Given the description of an element on the screen output the (x, y) to click on. 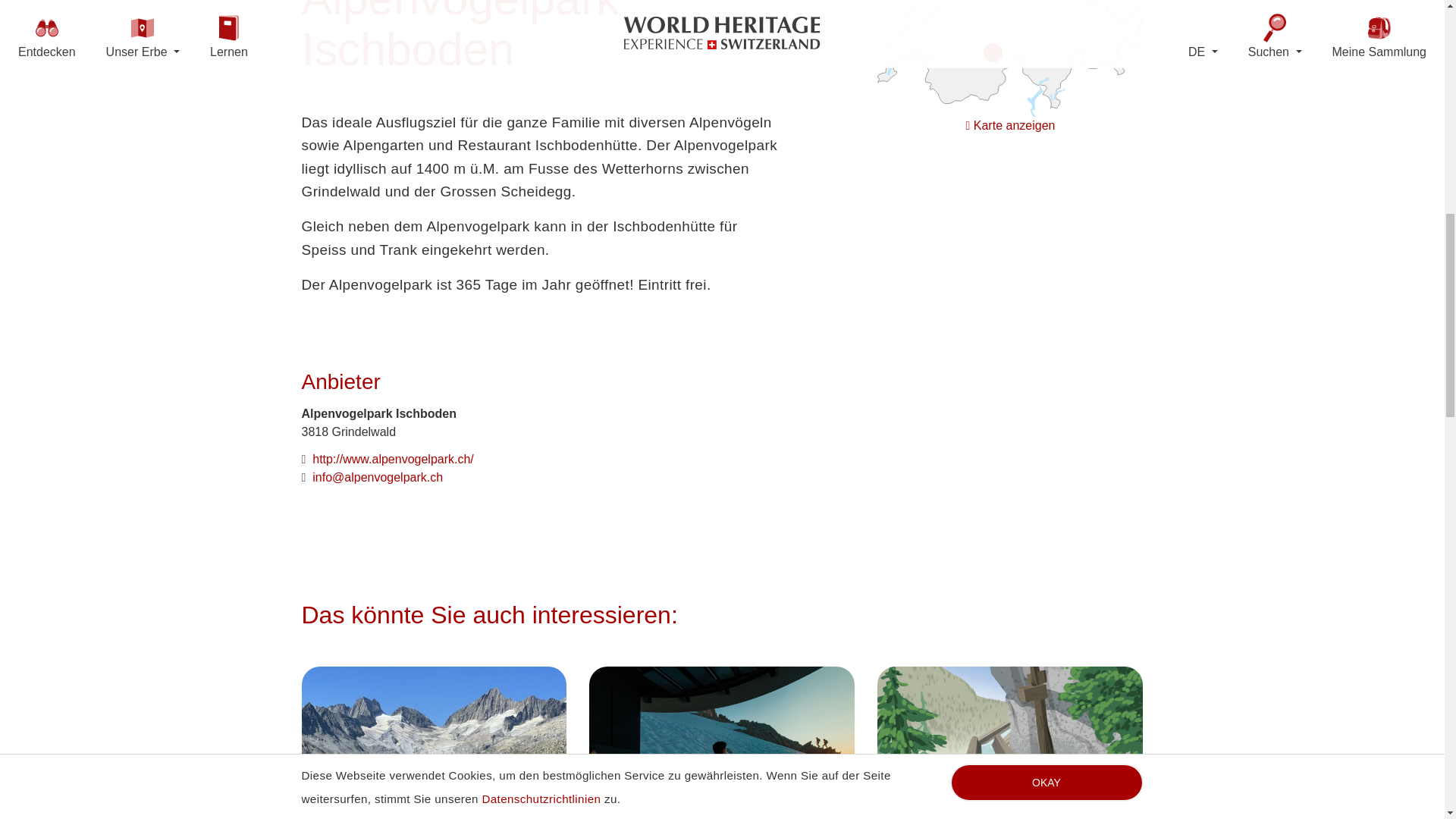
Karte anzeigen (1010, 124)
Karte anzeigen (993, 52)
Karte anzeigen (1009, 25)
